Given the description of an element on the screen output the (x, y) to click on. 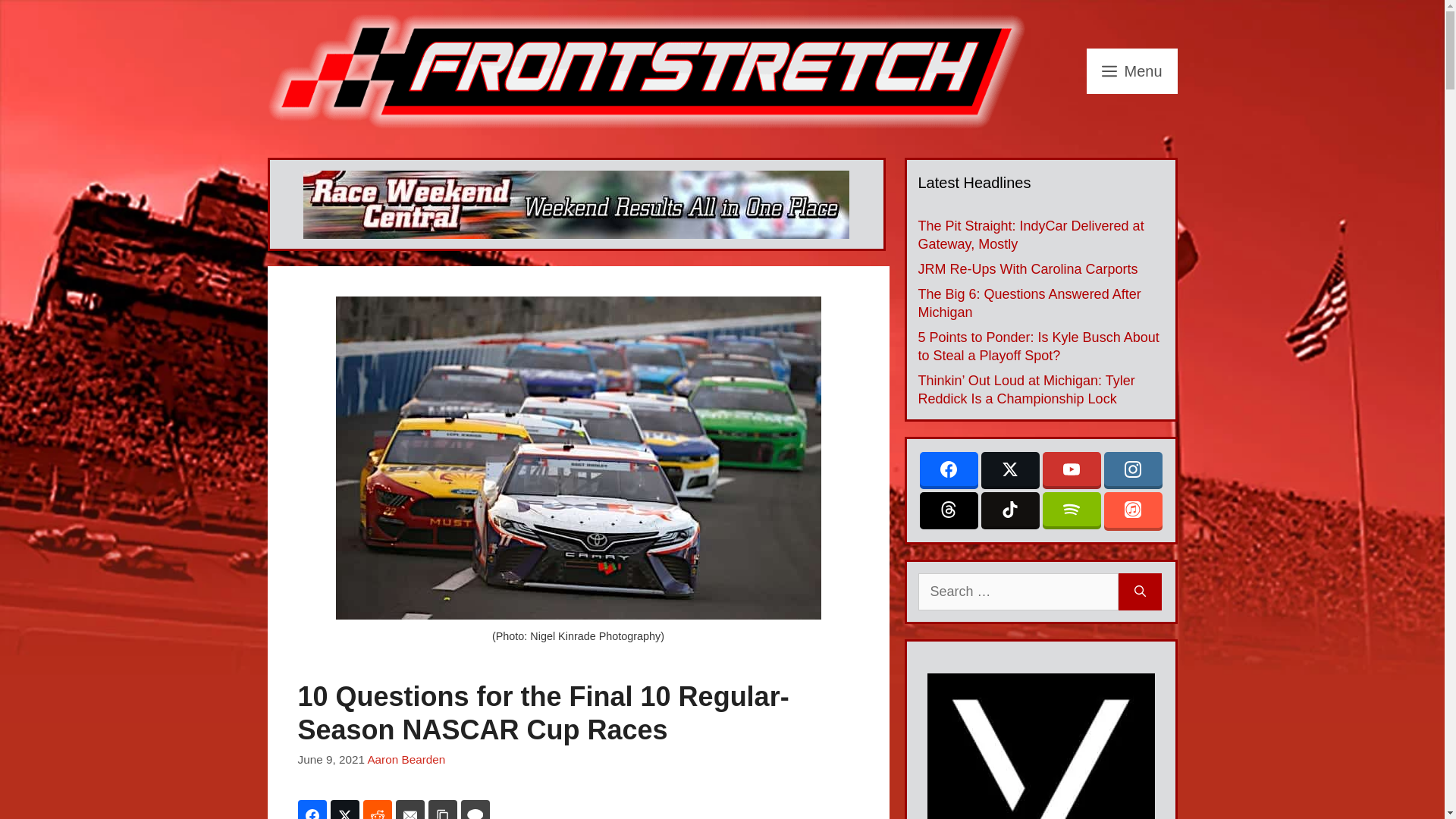
Share on Reddit (376, 809)
Share on Facebook (311, 809)
Menu (1131, 71)
Share on Copy Link (442, 809)
Share on Email (410, 809)
Aaron Bearden (405, 758)
Share on Twitter (344, 809)
Share on Comments (475, 809)
